Given the description of an element on the screen output the (x, y) to click on. 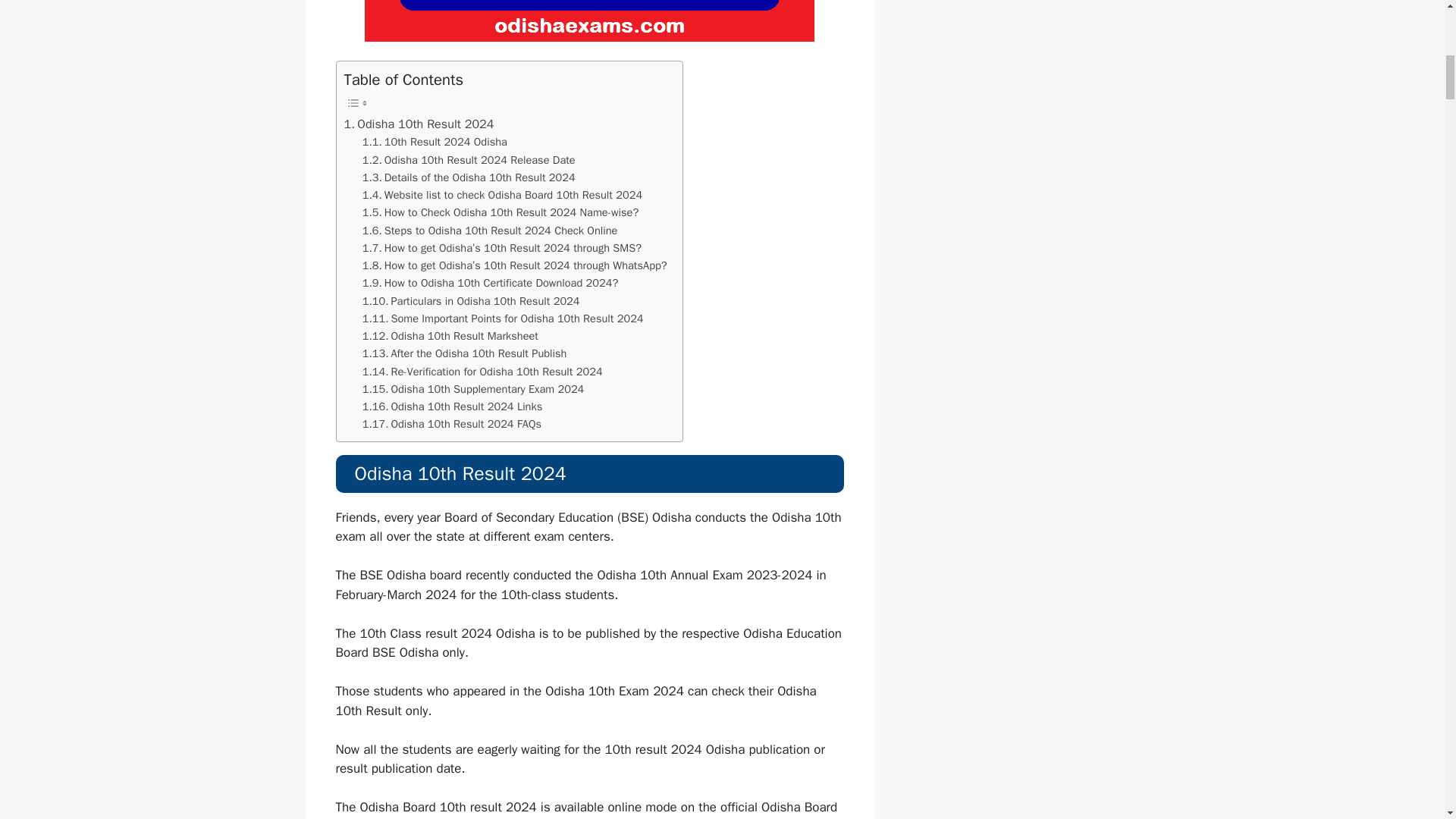
Steps to Odisha 10th Result 2024 Check Online (489, 230)
Odisha 10th Result 2024 (419, 124)
Odisha 10th Result 2024 Release Date (468, 159)
How to Check Odisha 10th Result 2024 Name-wise? (500, 212)
10th Result 2024 Odisha (434, 141)
Website list to check Odisha Board 10th Result 2024 (502, 194)
Details of the Odisha 10th Result 2024 (468, 177)
